Given the description of an element on the screen output the (x, y) to click on. 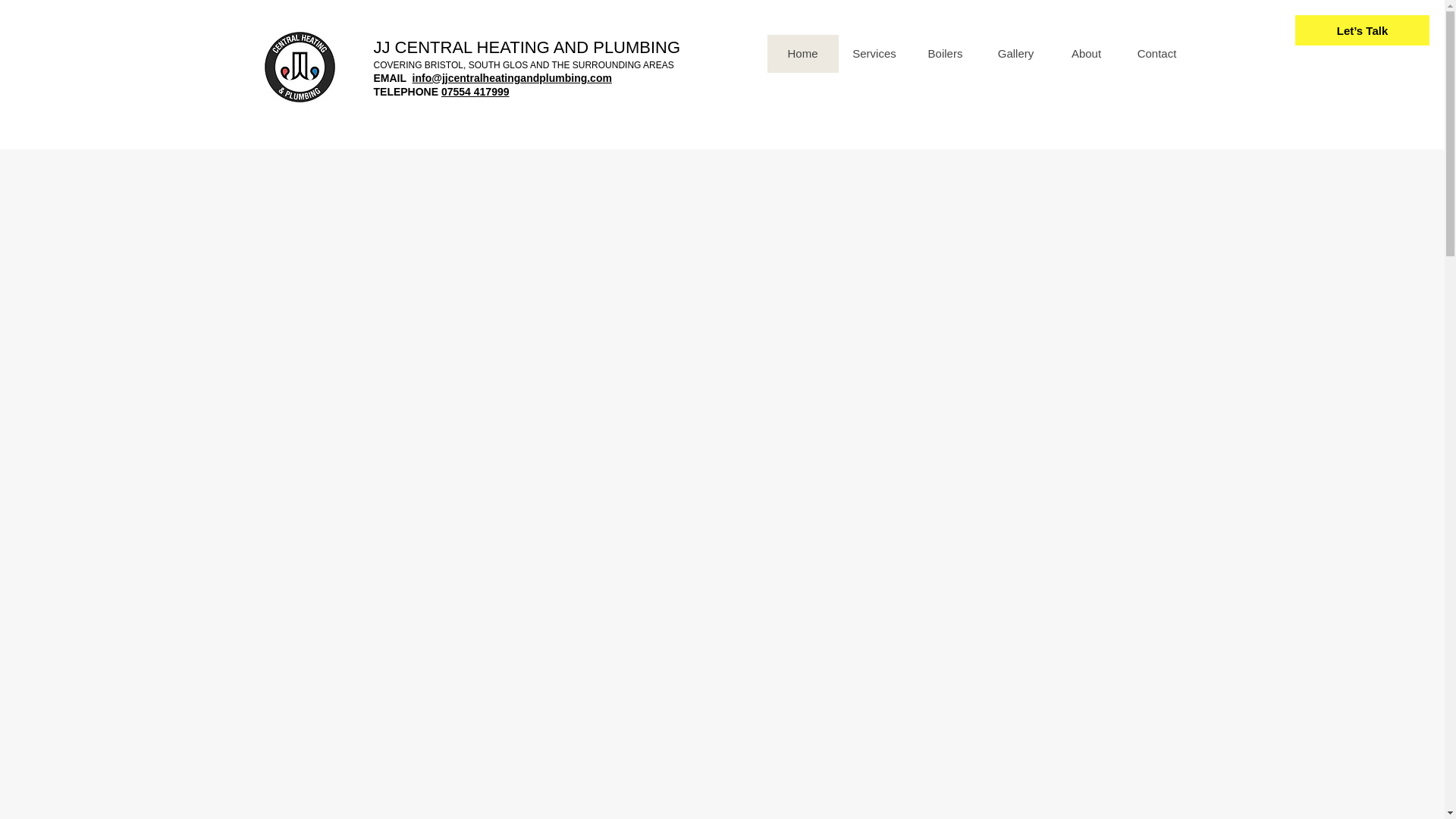
About (1086, 53)
Gallery (1014, 53)
JJ CENTRAL HEATING AND PLUMBING (525, 46)
Services (874, 53)
Boilers (944, 53)
Home (802, 53)
07554 417999 (475, 91)
Contact (1156, 53)
